Given the description of an element on the screen output the (x, y) to click on. 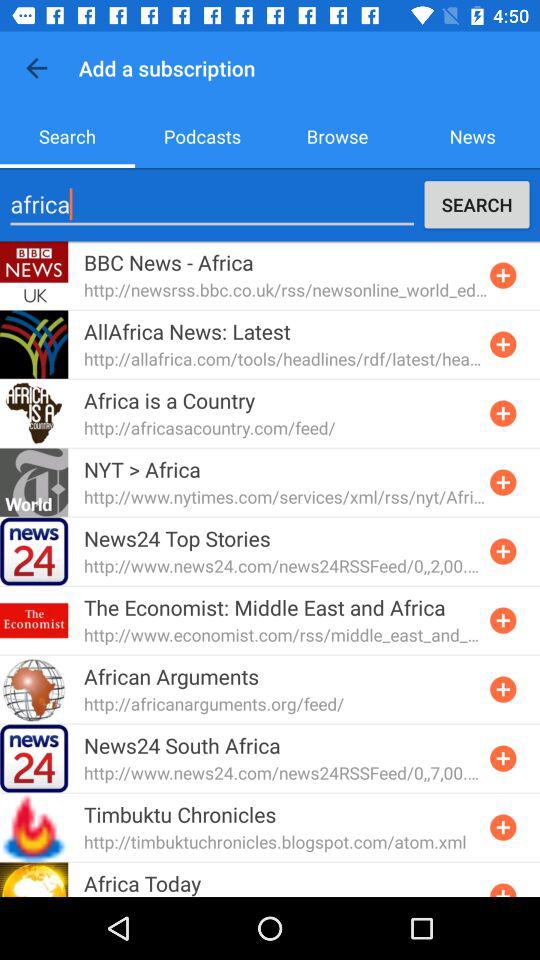
add subscription (503, 689)
